Given the description of an element on the screen output the (x, y) to click on. 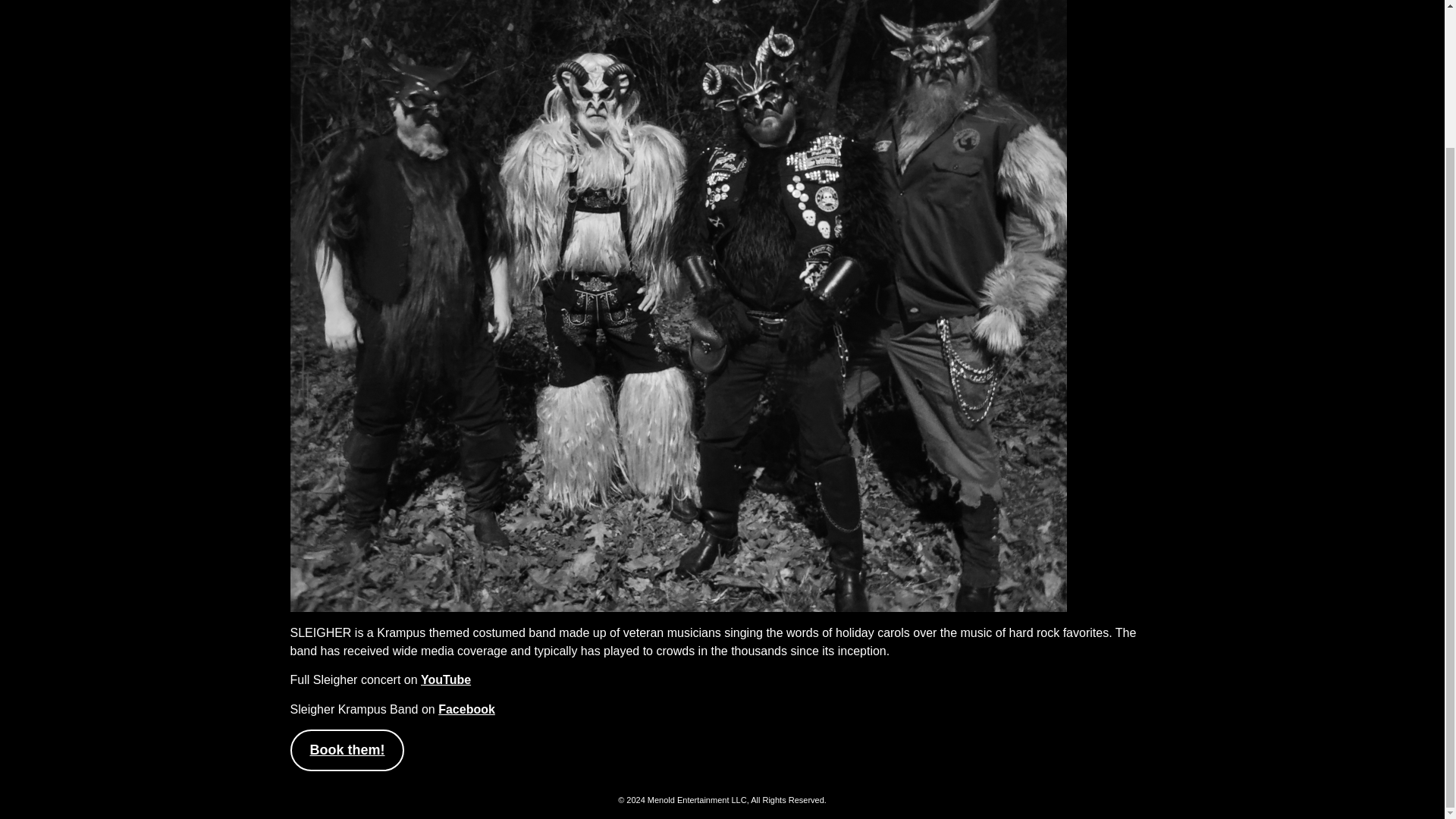
YouTube (445, 679)
Book them! (346, 750)
Facebook (466, 708)
